Given the description of an element on the screen output the (x, y) to click on. 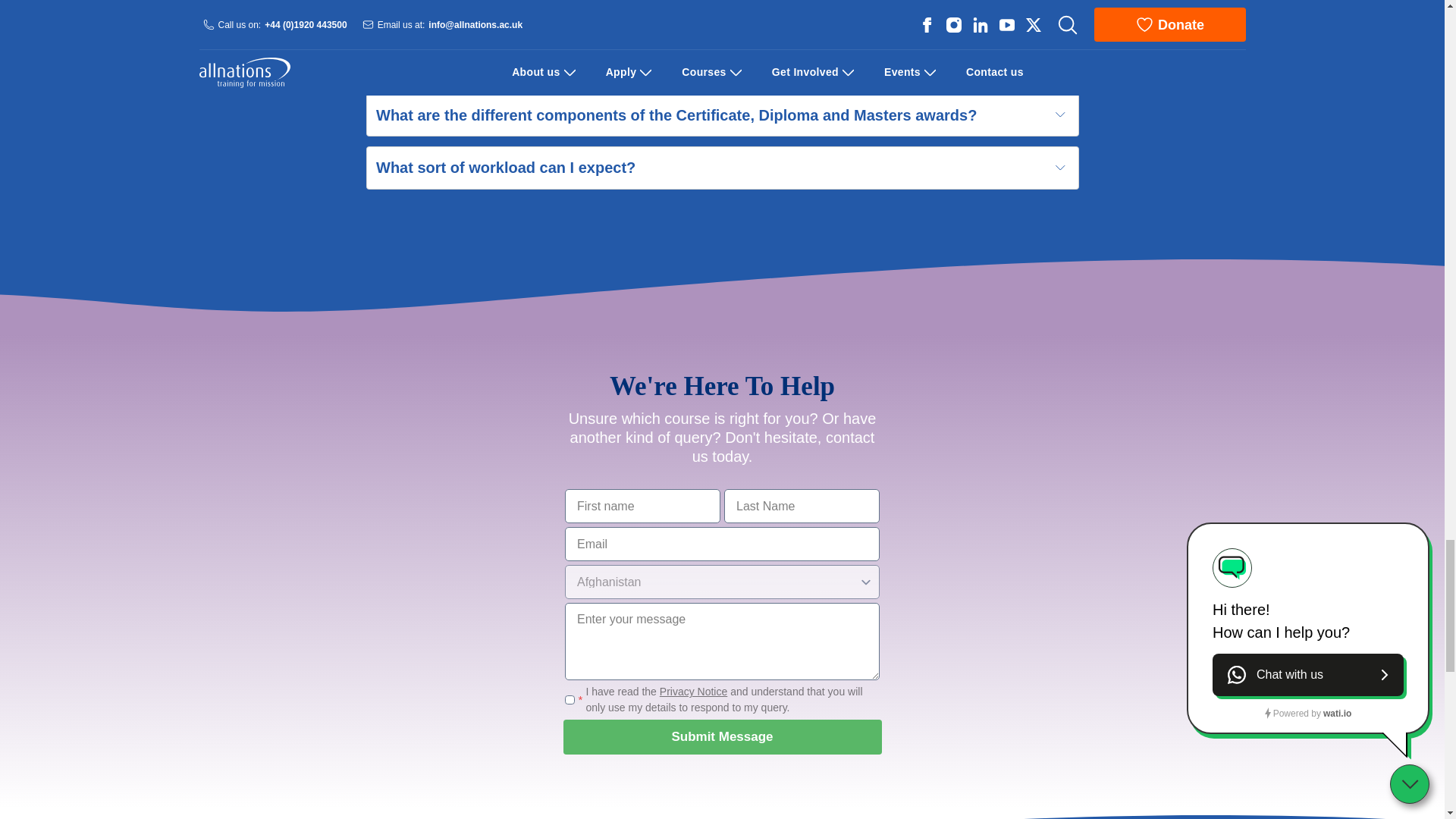
on (569, 700)
